Given the description of an element on the screen output the (x, y) to click on. 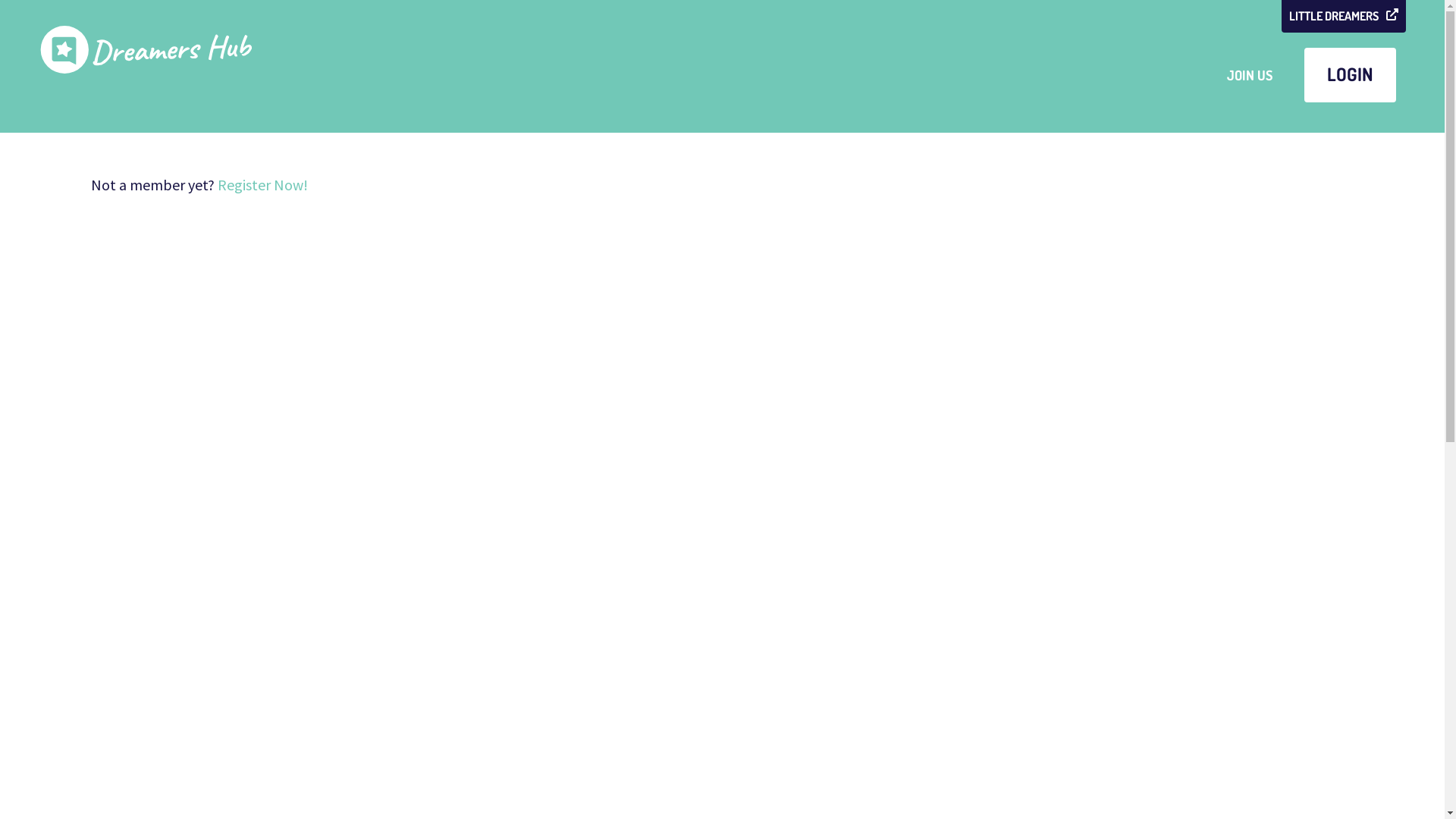
Register Now! Element type: text (262, 184)
JOIN US Element type: text (1249, 74)
LOGIN Element type: text (1350, 74)
Privacy Policy Element type: text (1369, 773)
Share by Facebook Element type: hover (657, 470)
Share by Instagram Element type: hover (722, 470)
LITTLE DREAMERS Element type: text (1343, 16)
Share by Twitter Element type: hover (787, 470)
